Given the description of an element on the screen output the (x, y) to click on. 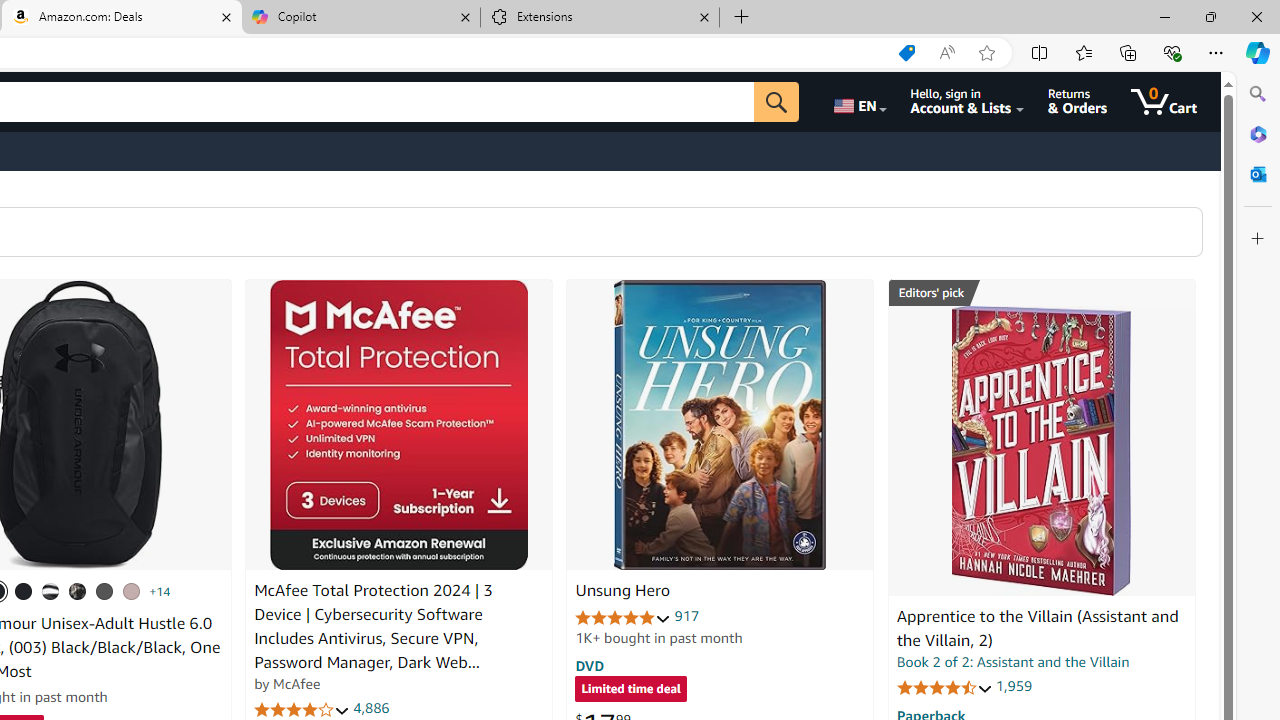
(004) Black / Black / Metallic Gold (78, 591)
